Given the description of an element on the screen output the (x, y) to click on. 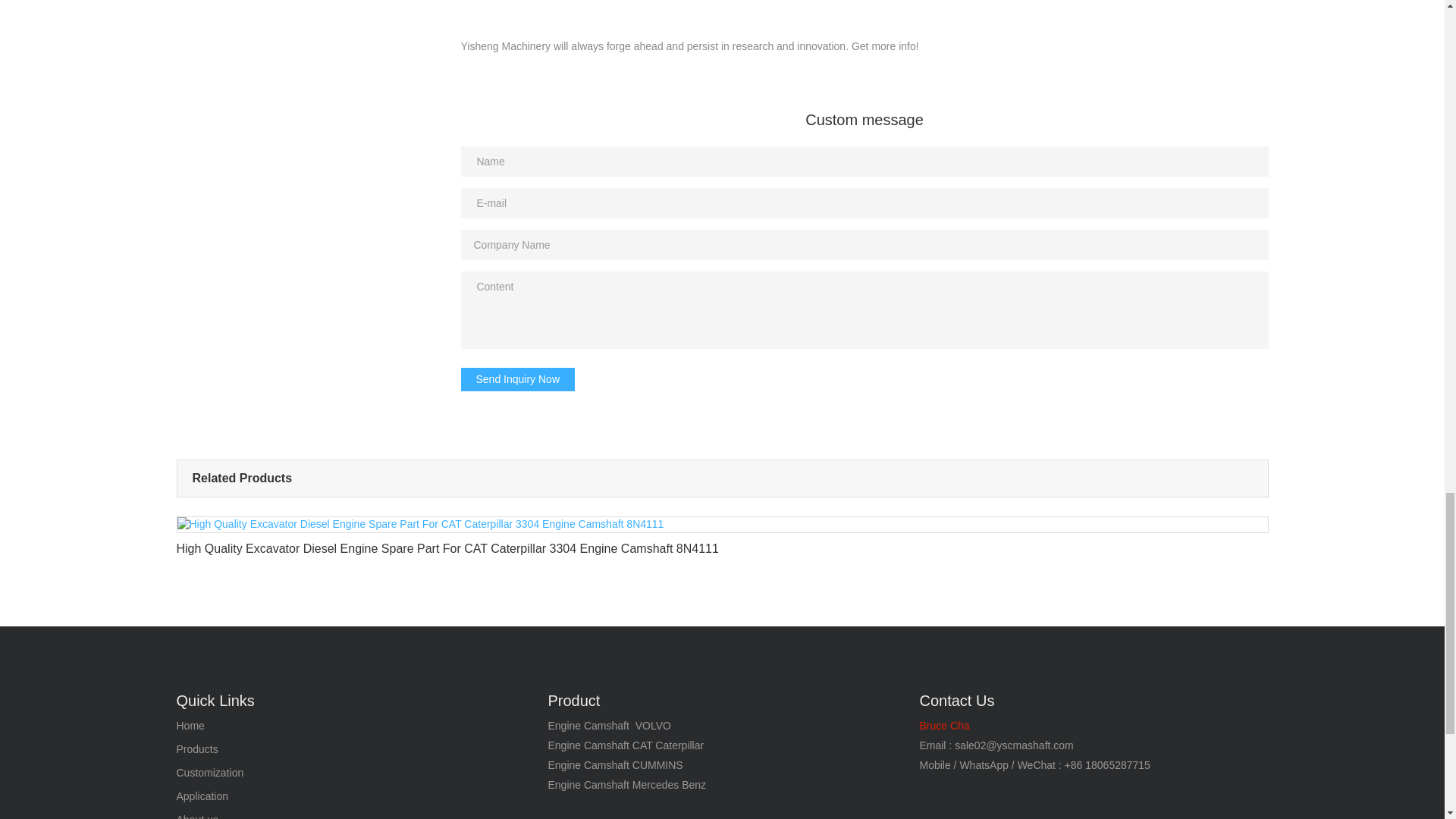
Home (189, 726)
Customization (209, 773)
Engine Camshaft CAT Caterpillar (625, 745)
About us (196, 816)
Engine Camshaft  VOLV (604, 725)
Application (202, 796)
Engine Camshaft Mercedes Benz (626, 784)
Send Inquiry Now (518, 378)
Engine Camshaft CUMMINS (614, 765)
Products (196, 749)
